Given the description of an element on the screen output the (x, y) to click on. 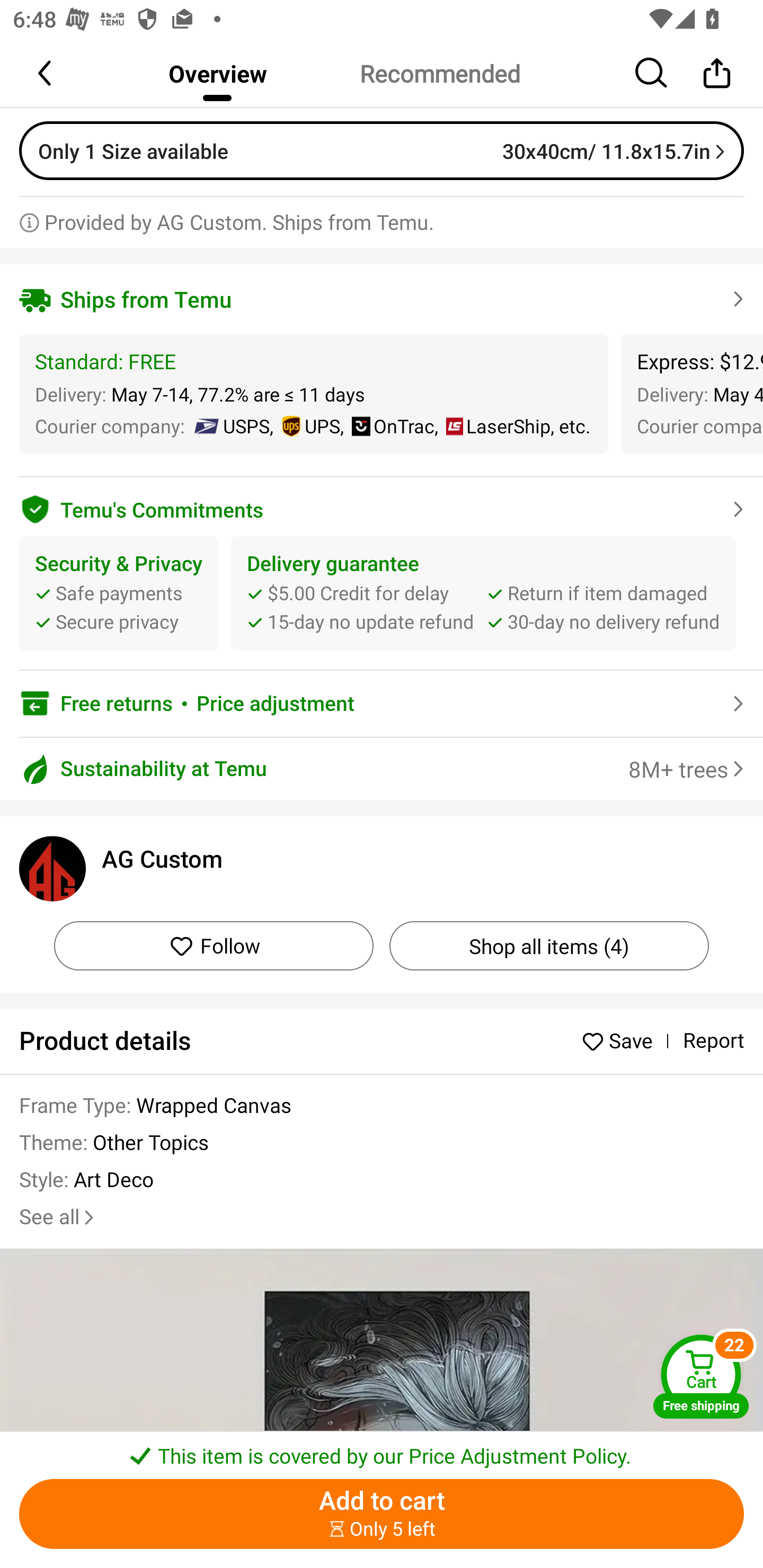
Overview (217, 72)
Recommended (439, 72)
Back (46, 72)
Share (716, 72)
Only 1 Size available 30x40cm/ 11.8x15.7in (381, 150)
Ships from Temu (381, 298)
Temu's Commitments (381, 506)
Security & Privacy Safe payments Secure privacy (118, 593)
Free returns￼Price adjustment (381, 703)
Sustainability at Temu 8M+ trees (381, 768)
AG Custom   Follow Shop all items (4) (381, 902)
  Follow (213, 945)
Shop all items (4) (548, 945)
Report (712, 1041)
 Save (621, 1040)
See all  (58, 1217)
Cart Free shipping Cart (701, 1375)
Add to cart ￼￼Only 5 left (381, 1513)
